Given the description of an element on the screen output the (x, y) to click on. 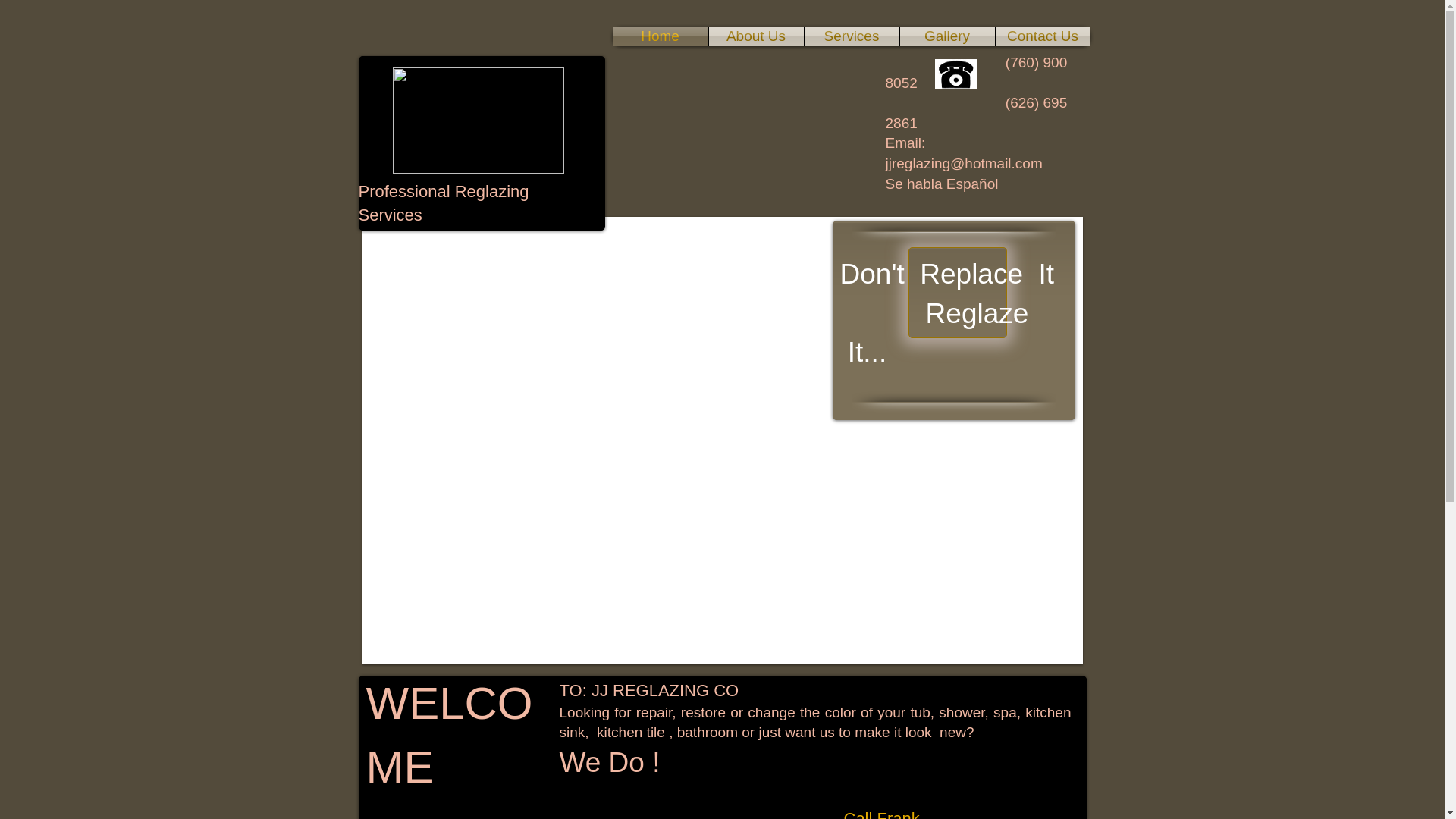
Home (659, 35)
Services (850, 35)
About Us (755, 35)
Contact Us (1041, 35)
Gallery (946, 35)
jj reglazing.jpg (478, 120)
